Given the description of an element on the screen output the (x, y) to click on. 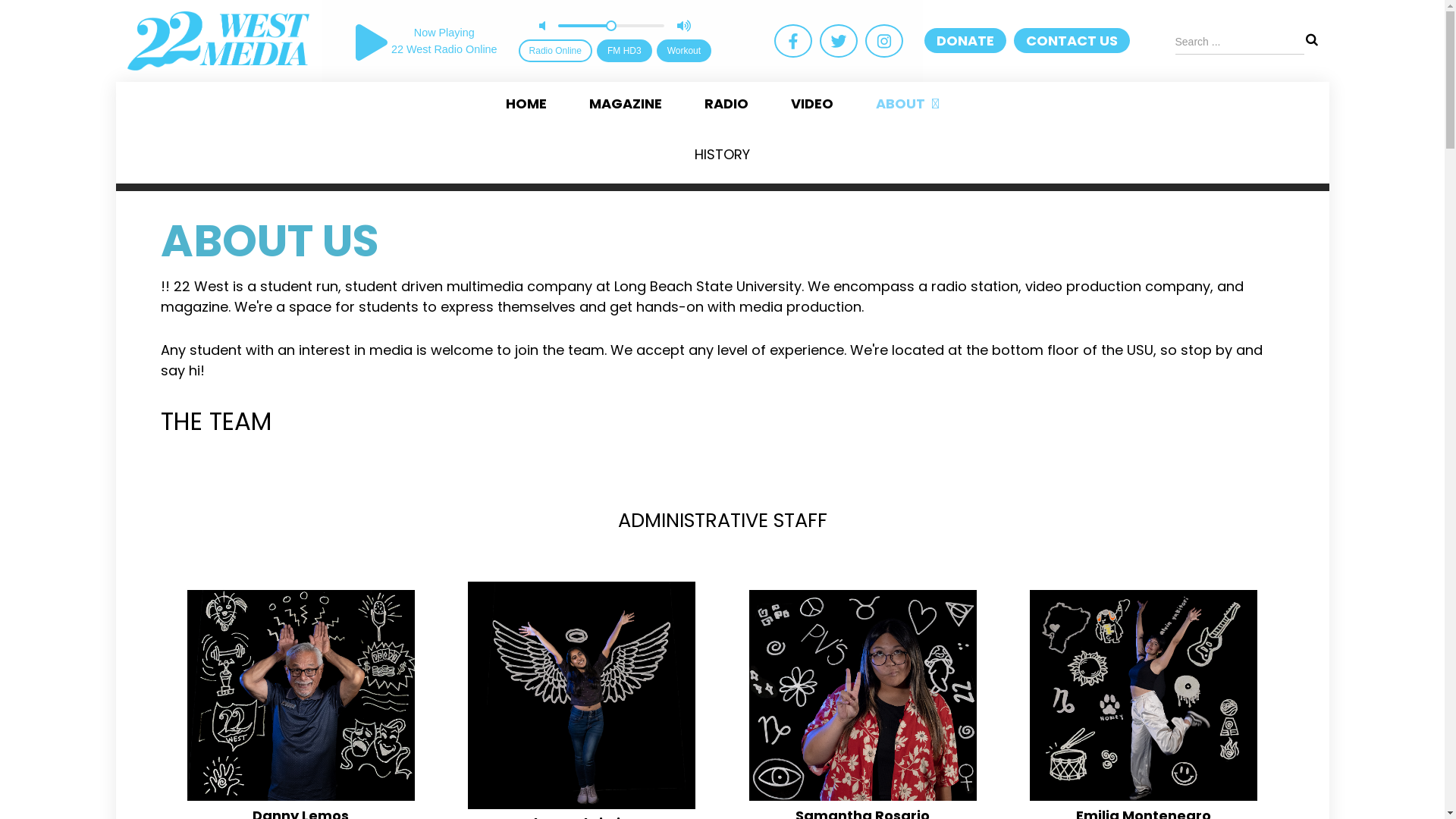
ABOUT Element type: text (907, 103)
MAGAZINE Element type: text (625, 103)
RADIO Element type: text (726, 103)
VIDEO Element type: text (811, 103)
CONTACT US Element type: text (1071, 40)
HISTORY Element type: text (722, 153)
DONATE Element type: text (965, 40)
HOME Element type: text (525, 103)
